Given the description of an element on the screen output the (x, y) to click on. 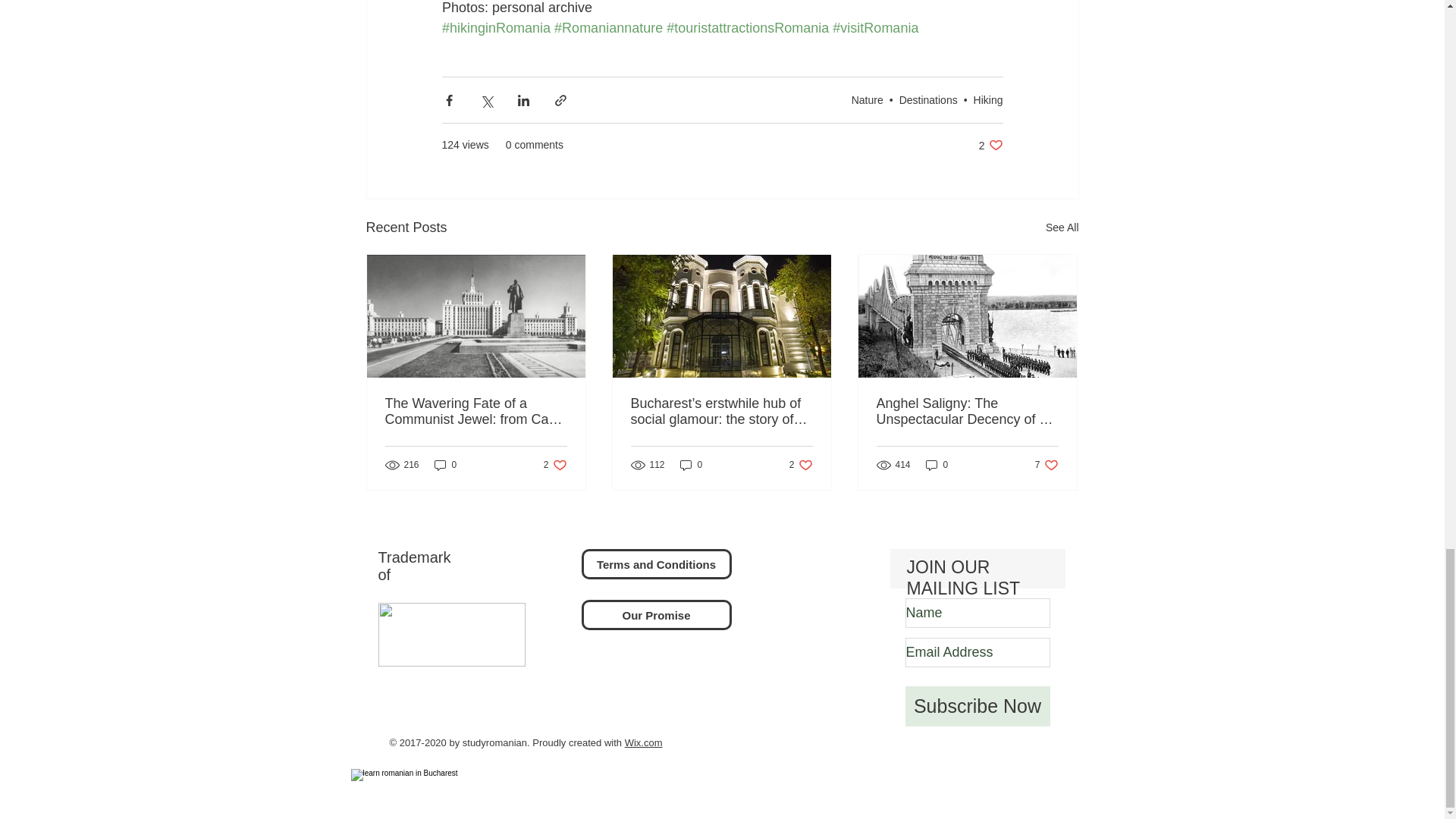
Hiking (988, 100)
See All (1061, 228)
Nature (867, 100)
Destinations (990, 145)
